Given the description of an element on the screen output the (x, y) to click on. 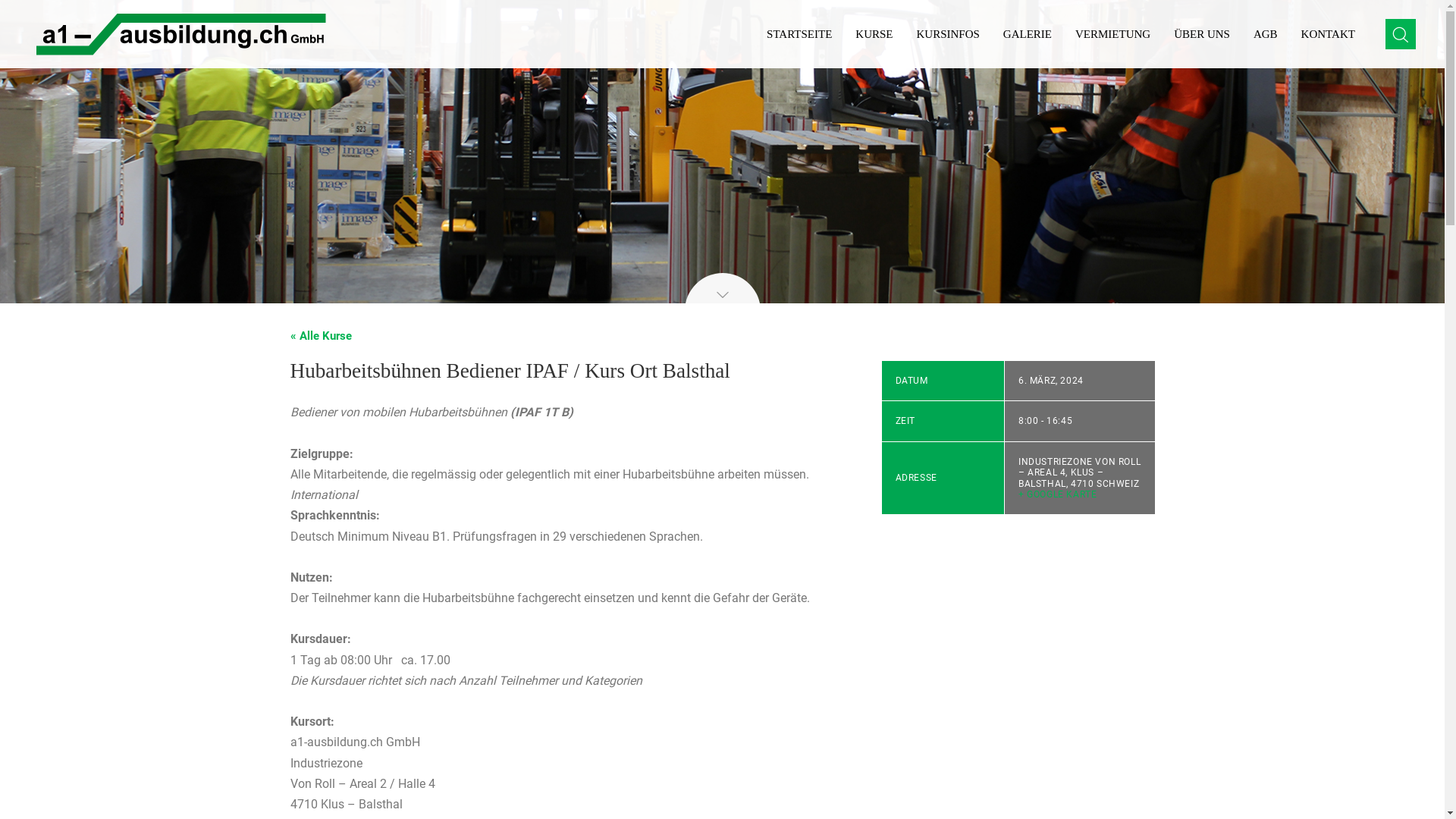
KURSE Element type: text (873, 33)
KONTAKT Element type: text (1328, 33)
KURSINFOS Element type: text (947, 33)
VERMIETUNG Element type: text (1112, 33)
Suche Element type: text (1400, 90)
GALERIE Element type: text (1027, 33)
a1 Ausbildung Element type: hover (180, 34)
AGB Element type: text (1265, 33)
STARTSEITE Element type: text (799, 33)
+ GOOGLE KARTE Element type: text (1057, 494)
